Given the description of an element on the screen output the (x, y) to click on. 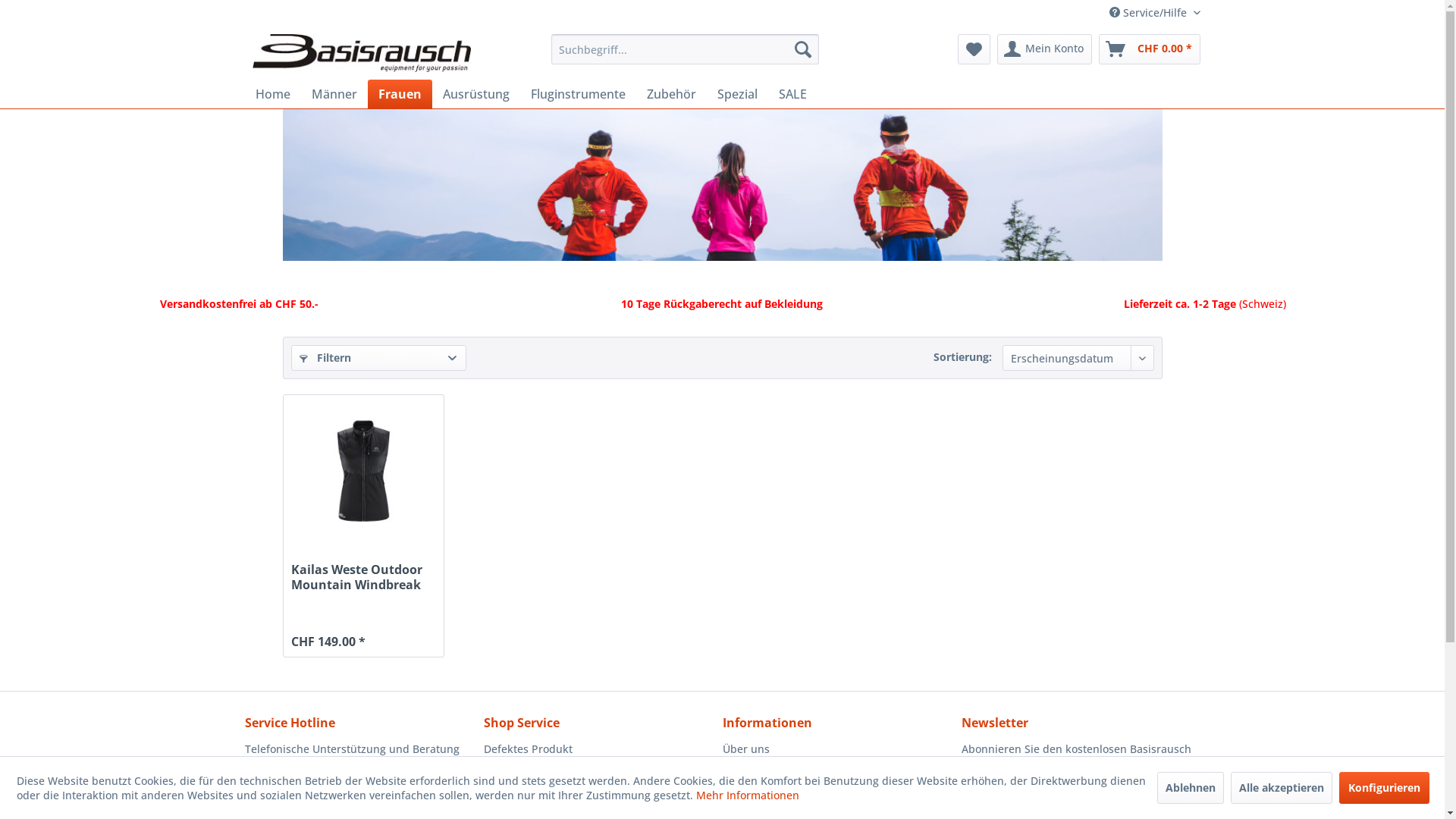
Fluginstrumente Element type: text (578, 93)
Spezial Element type: text (737, 93)
Basisrausch Shop - zur Startseite wechseln Element type: hover (360, 53)
Merkzettel Element type: hover (973, 49)
Home Element type: text (272, 93)
Mein Konto Element type: text (1043, 49)
AGB Element type: text (837, 784)
Inhalt Element type: hover (363, 607)
Kontakt Element type: text (599, 802)
Konfigurieren Element type: text (1384, 787)
Alle akzeptieren Element type: text (1280, 787)
CHF 0.00 * Element type: text (1148, 49)
SALE Element type: text (791, 93)
Datenschutz Element type: text (837, 766)
Mehr Informationen Element type: text (747, 794)
Ablehnen Element type: text (1190, 787)
0041 76 569 33 32 Element type: text (305, 803)
Newsletter Element type: text (599, 766)
Impressum Element type: text (837, 802)
Kailas Weste Outdoor Mountain Windbreak women Element type: text (363, 576)
Versandkosten Element type: text (599, 784)
Frauen Element type: text (399, 93)
Filtern Element type: text (379, 357)
Versandkostenfrei ab CHF 50.- Element type: text (239, 303)
Defektes Produkt Element type: text (599, 749)
Kailas Weste Outdoor Mountain Windbreak women Element type: hover (362, 470)
Kailas Weste Outdoor Mountain Windbreak women Element type: hover (363, 470)
